Given the description of an element on the screen output the (x, y) to click on. 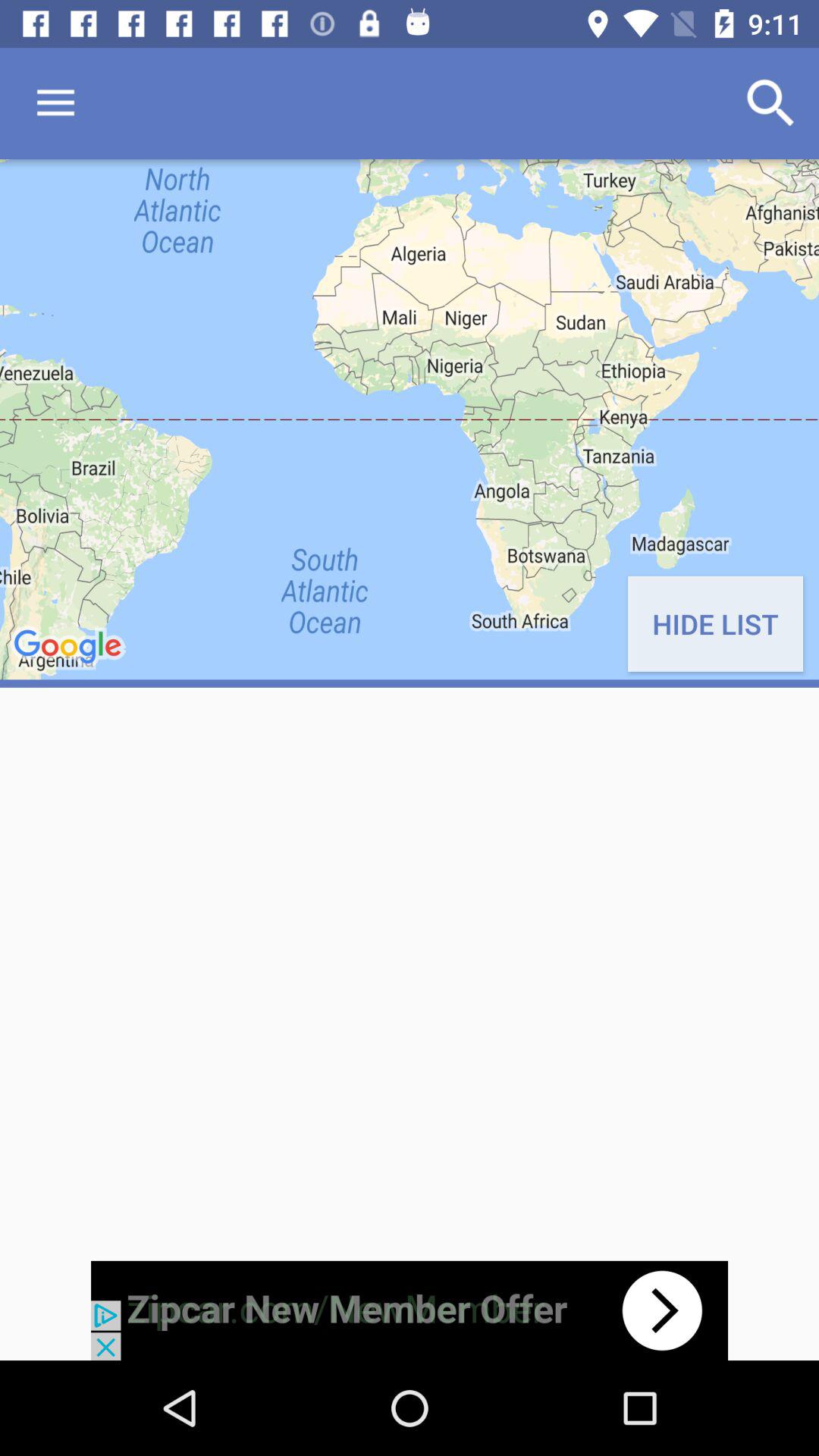
swipe to hide list icon (715, 623)
